Given the description of an element on the screen output the (x, y) to click on. 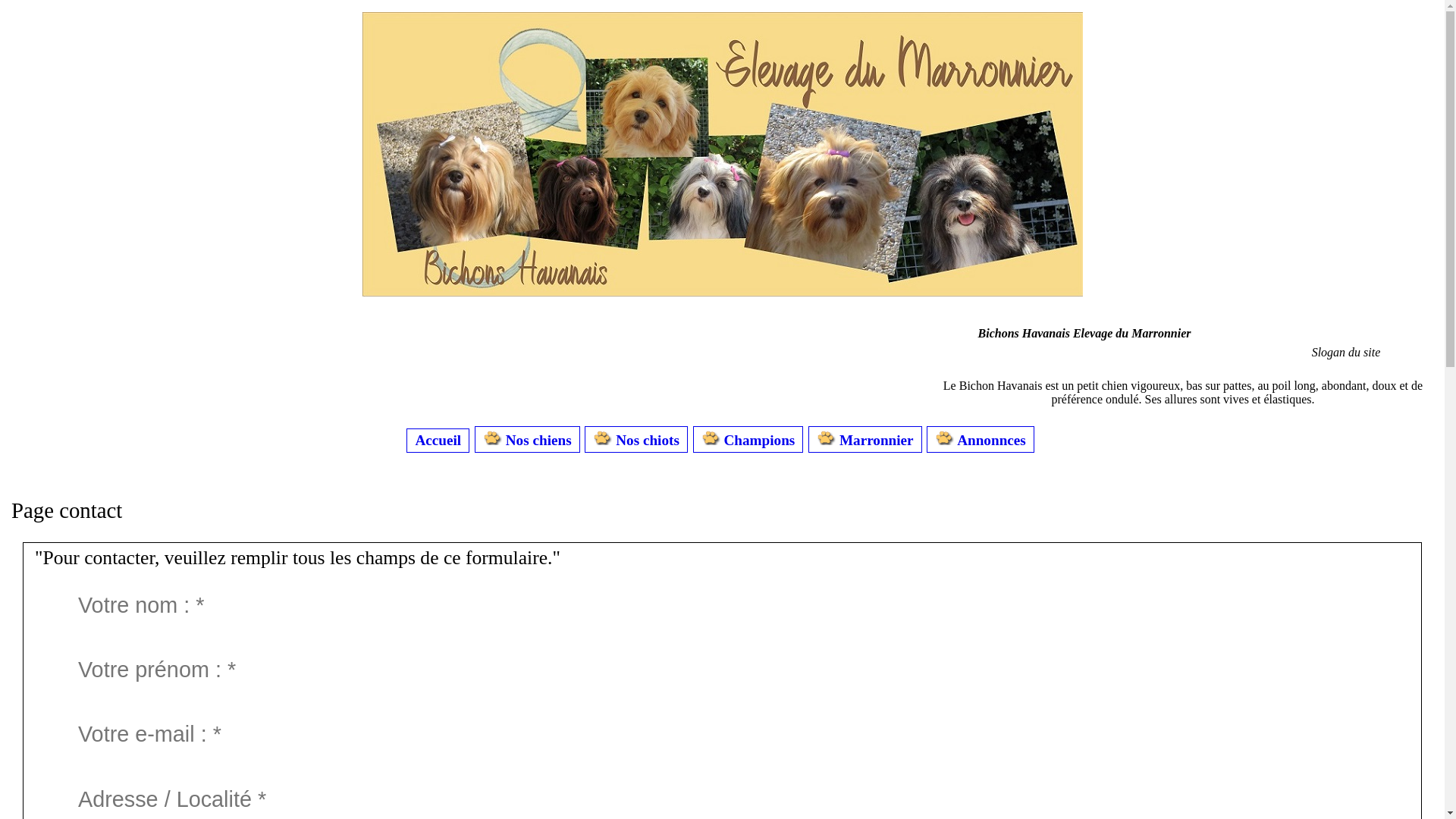
Champions Element type: text (748, 439)
Accueil Element type: text (437, 440)
Nos chiots Element type: text (635, 439)
Marronnier Element type: text (865, 439)
Annonnces Element type: text (979, 439)
Accueil Element type: hover (722, 291)
Nos chiens Element type: text (527, 439)
